Given the description of an element on the screen output the (x, y) to click on. 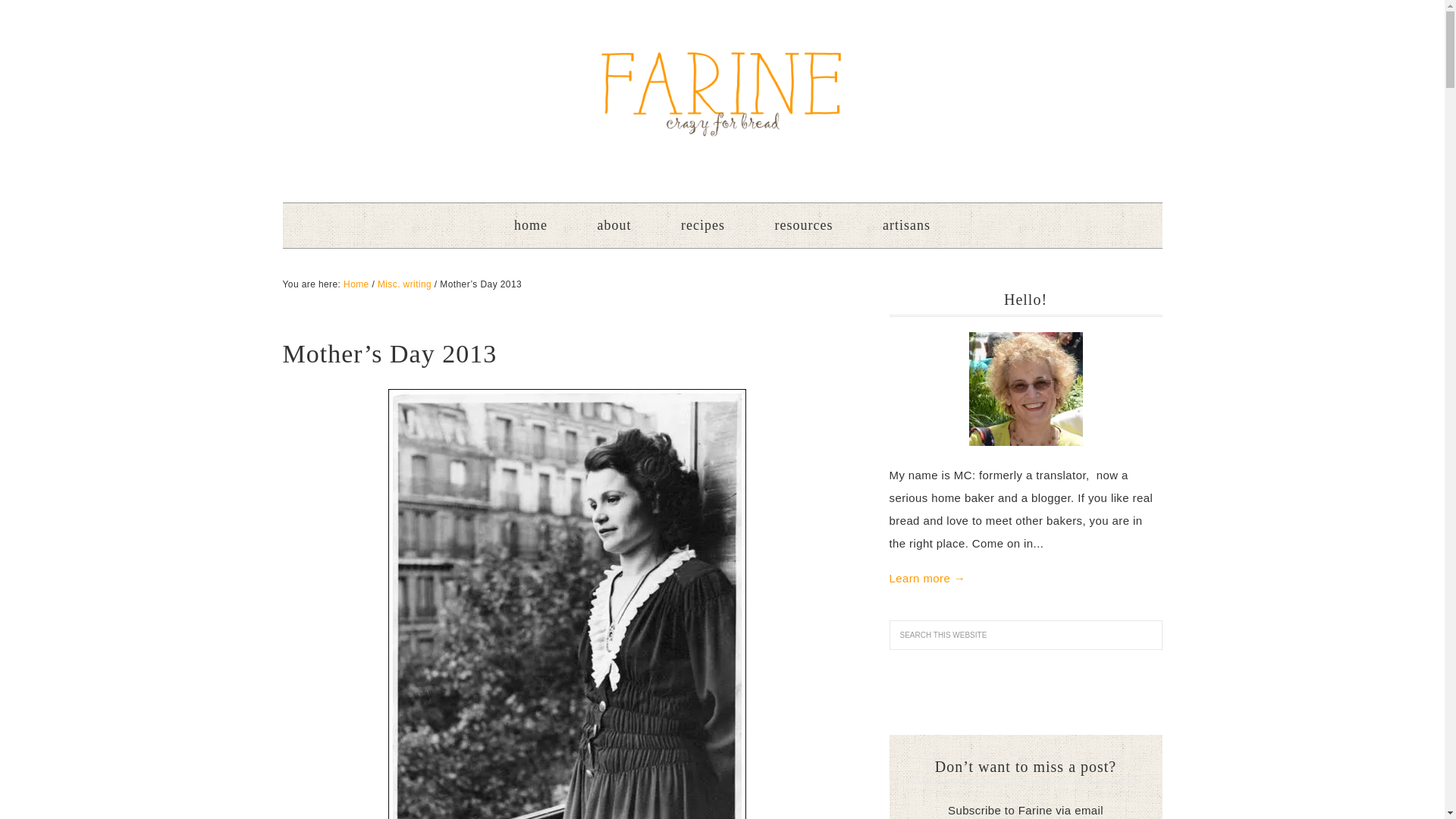
Farine (721, 92)
about (614, 225)
home (531, 225)
Home (356, 284)
recipes (703, 225)
Misc. writing (403, 284)
artisans (906, 225)
resources (804, 225)
